Given the description of an element on the screen output the (x, y) to click on. 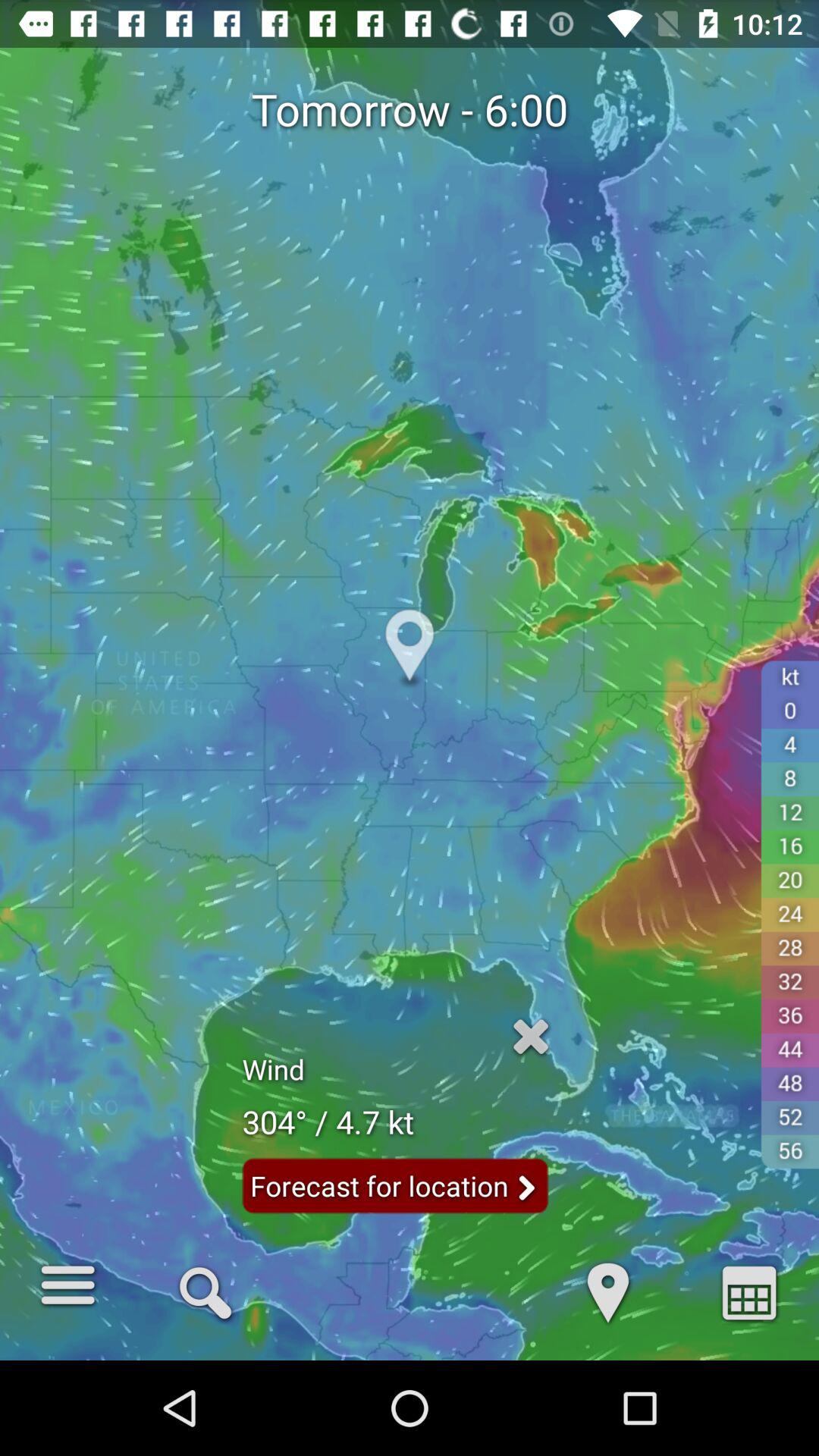
press the icon to the right of the d icon (749, 1291)
